Given the description of an element on the screen output the (x, y) to click on. 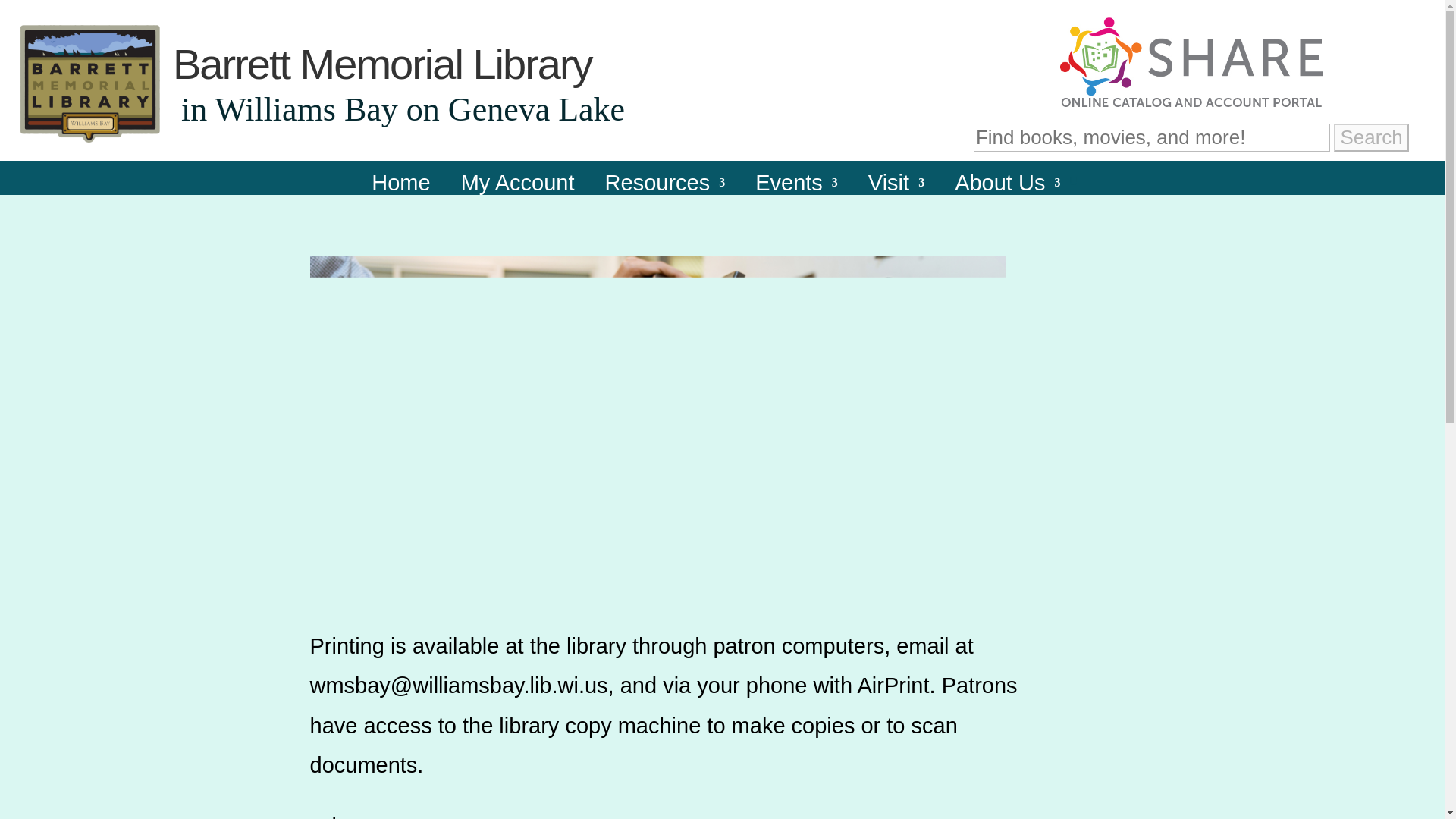
About Us (1007, 193)
Visit (895, 193)
Search (1370, 137)
Search (1370, 137)
SHARE online catalog and account portal (1190, 62)
Events (796, 193)
Home (400, 193)
Resources (665, 193)
My Account (518, 193)
Enterprise searchbox: (1152, 137)
